Given the description of an element on the screen output the (x, y) to click on. 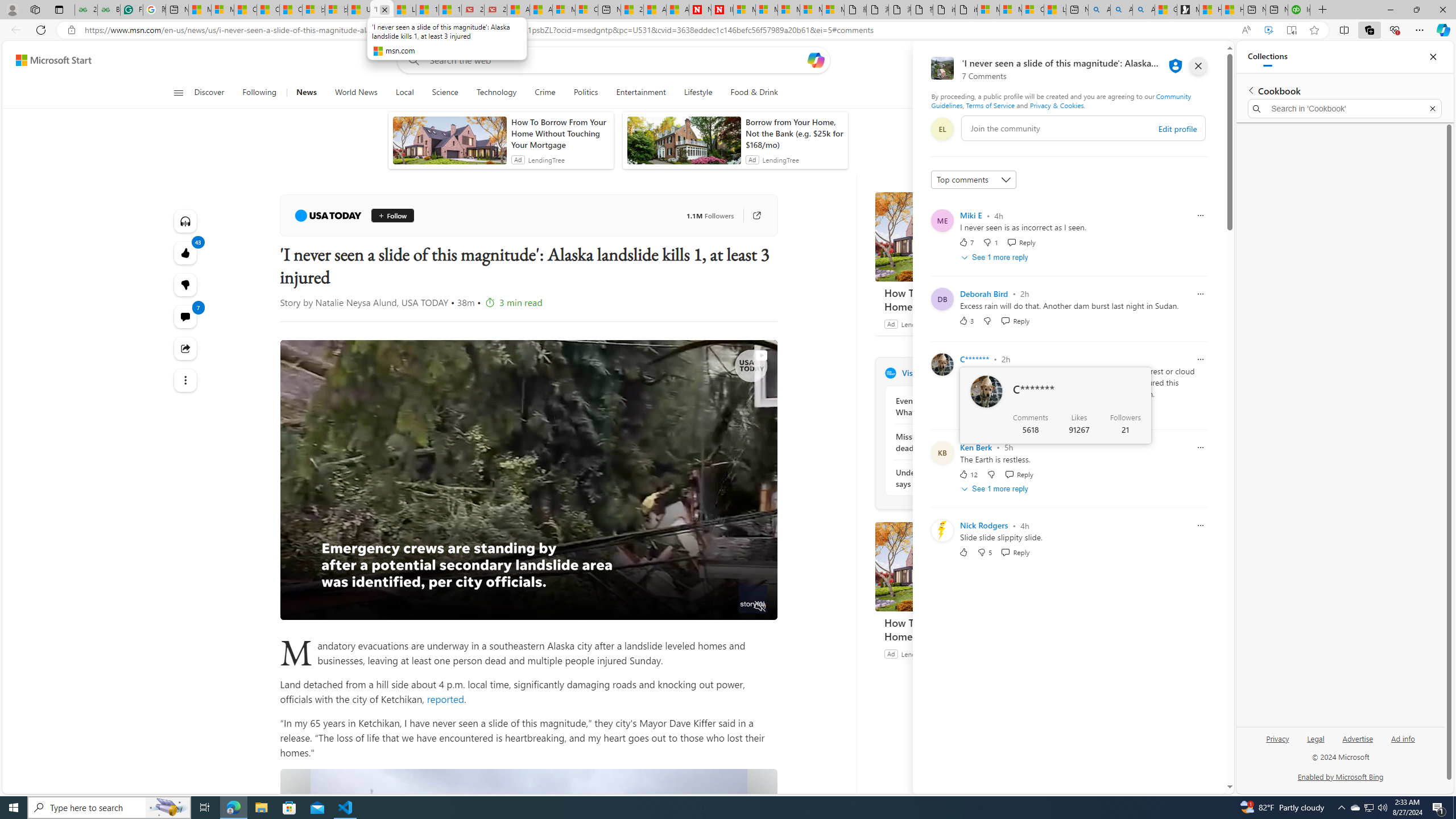
25 Basic Linux Commands For Beginners - GeeksforGeeks (85, 9)
Listen to this article (184, 220)
12 Like (967, 473)
See 1 more reply (995, 489)
